Given the description of an element on the screen output the (x, y) to click on. 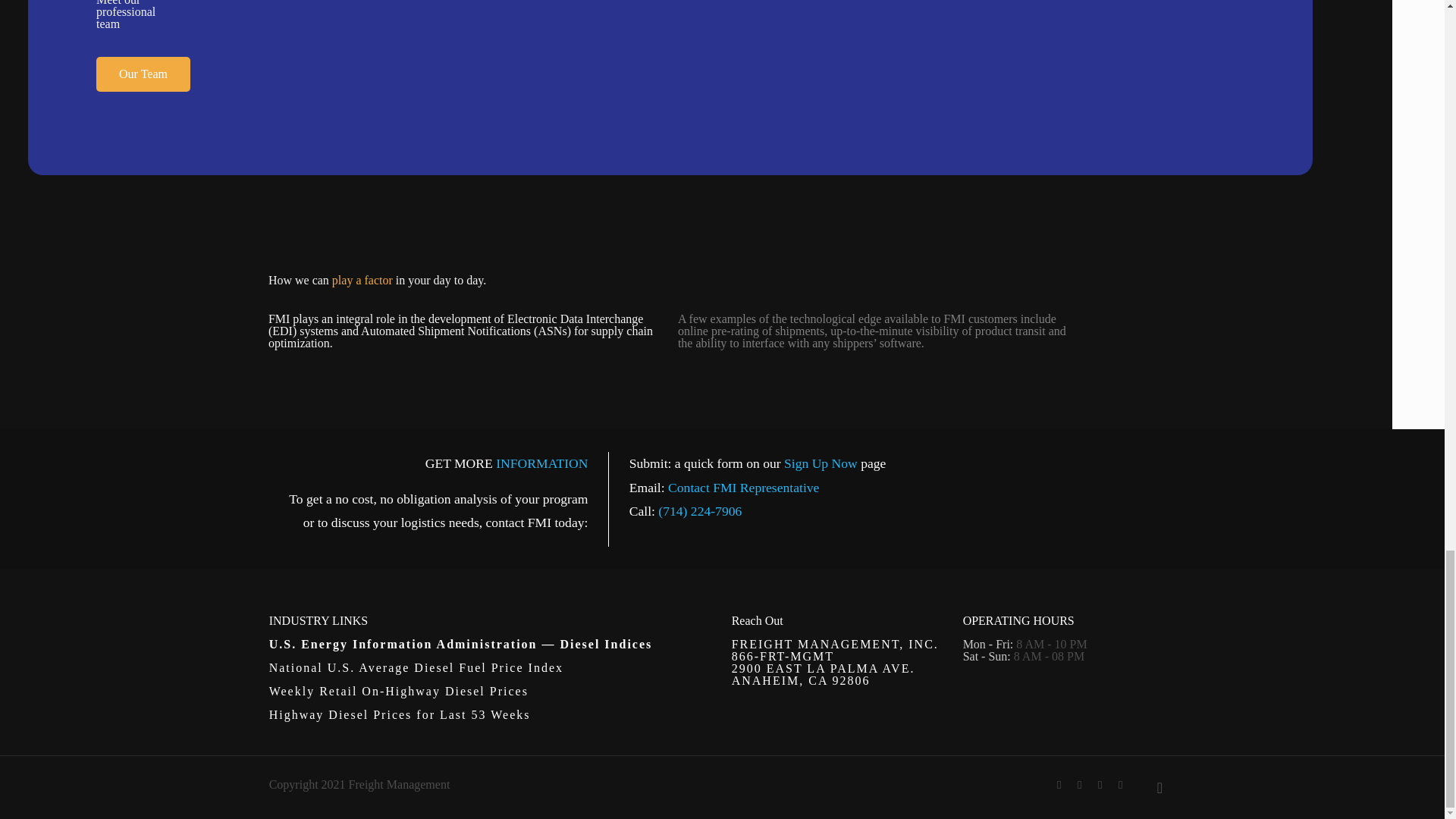
Facebook (1059, 784)
Contact FMI Representative (743, 487)
Sign Up Now (820, 462)
Our Team (143, 73)
YouTube (1079, 784)
LinkedIn (1100, 784)
National U.S. Average Diesel Fuel Price Index  (418, 667)
Weekly Retail On-Highway Diesel Prices  (400, 690)
Highway Diesel Prices for Last 53 Weeks  (402, 714)
